Given the description of an element on the screen output the (x, y) to click on. 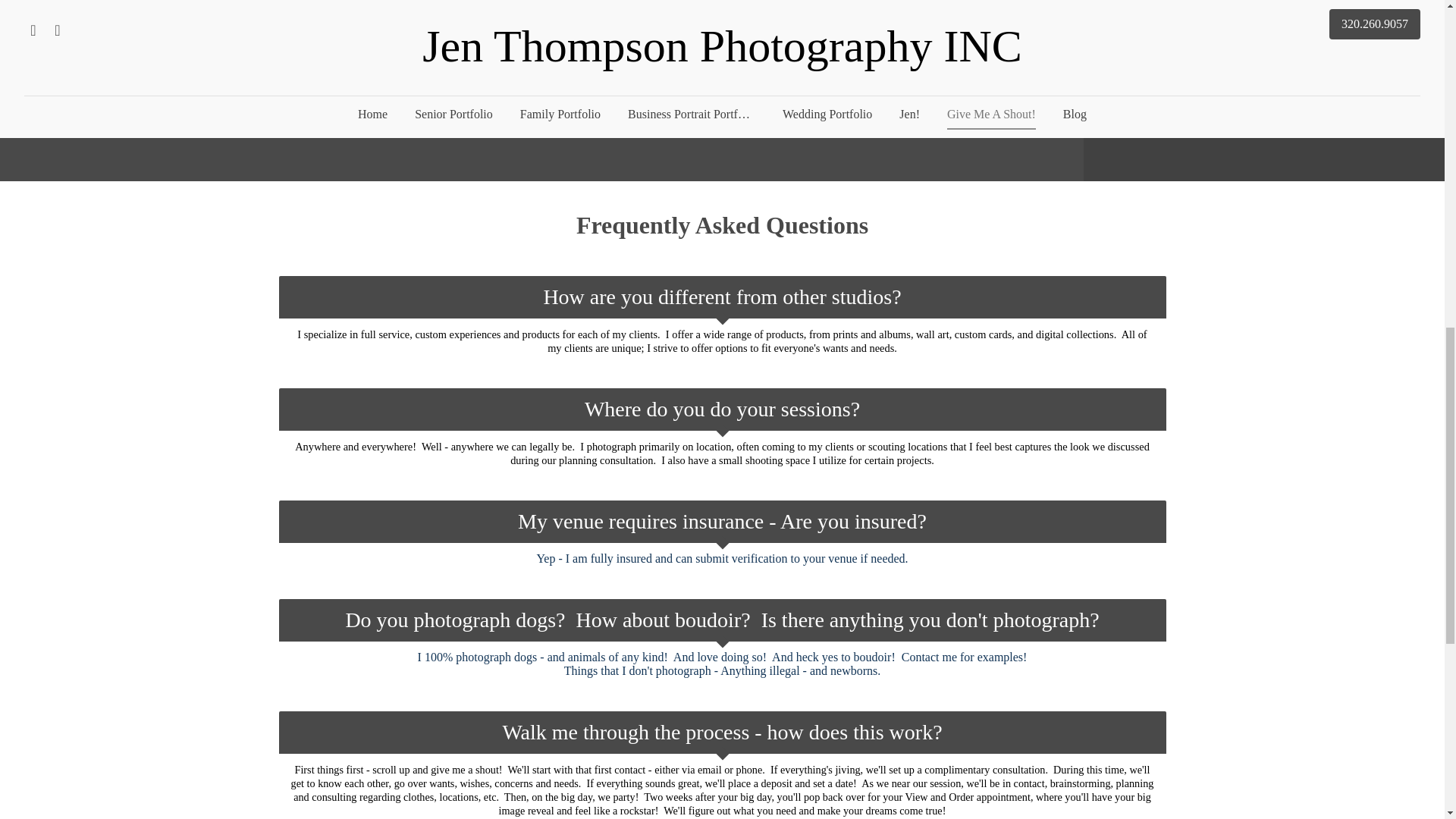
Google Maps - 620 7th ave n,56303,MN,St. Cloud,US (361, 90)
